Given the description of an element on the screen output the (x, y) to click on. 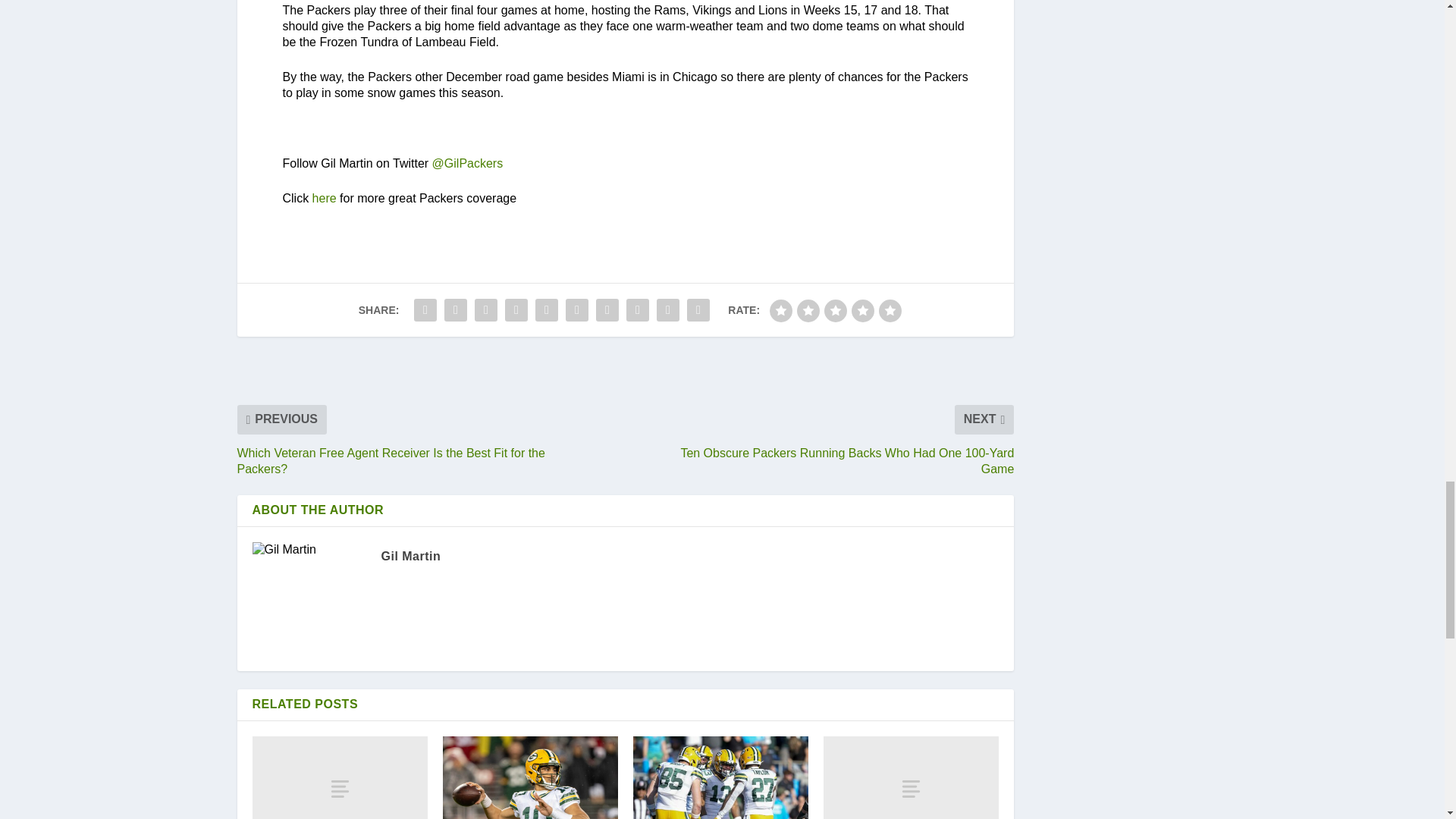
here (324, 197)
